Given the description of an element on the screen output the (x, y) to click on. 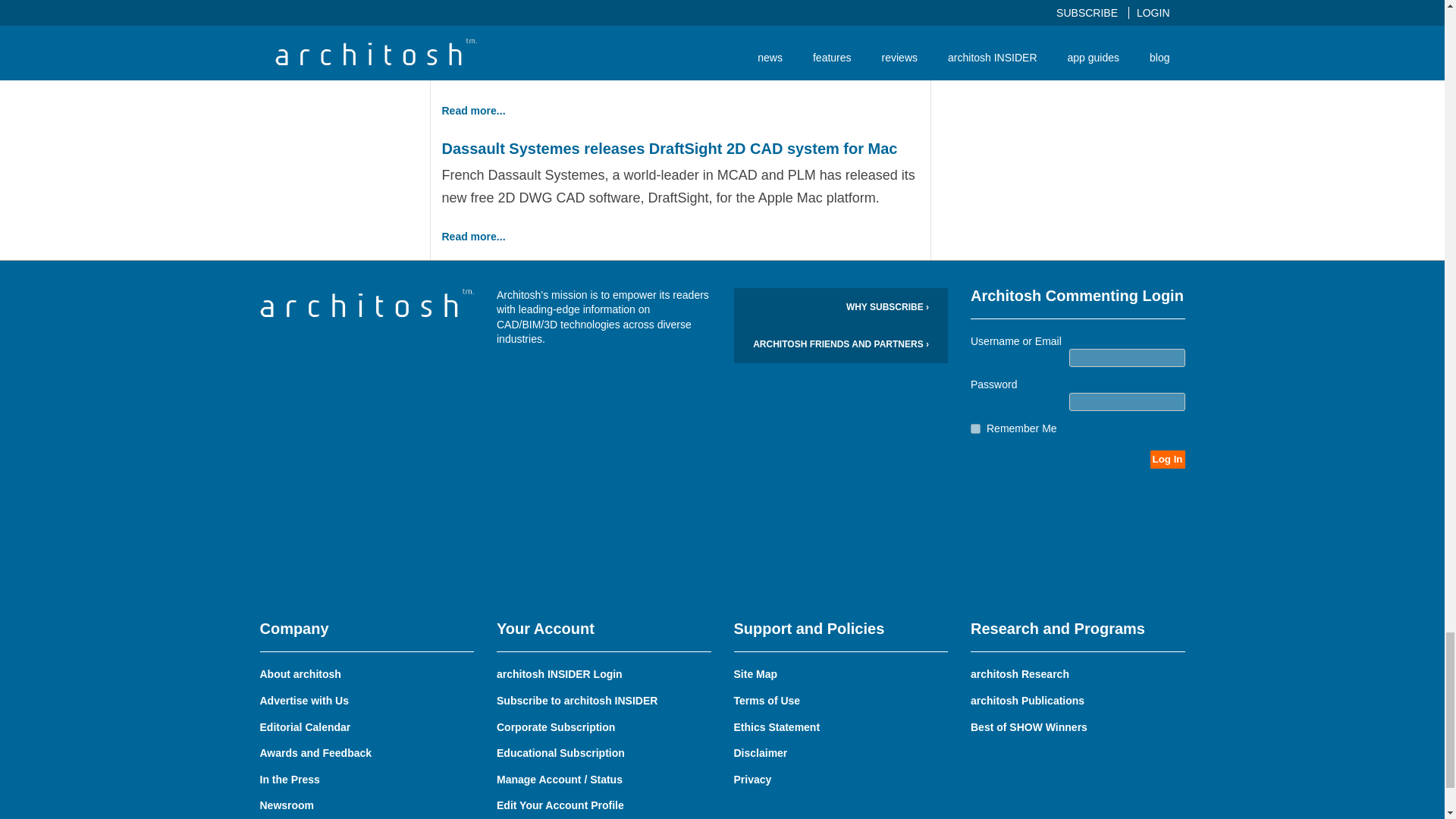
forever (975, 429)
Log In (1167, 459)
